Given the description of an element on the screen output the (x, y) to click on. 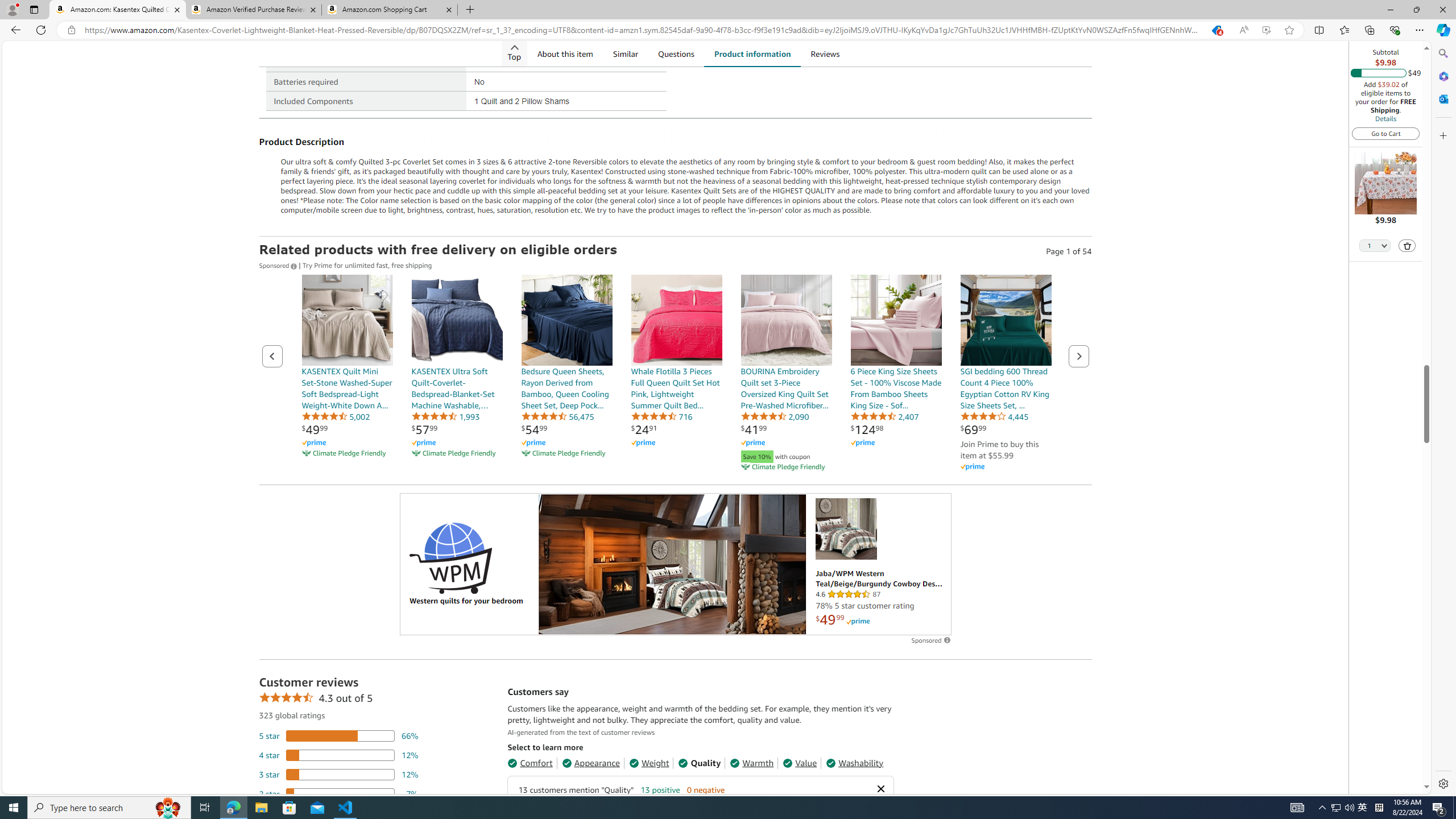
Previous page of related Sponsored Products (272, 355)
Product information (751, 53)
Value (799, 762)
$54.99 (534, 429)
$41.99 (754, 429)
Top (513, 53)
